Given the description of an element on the screen output the (x, y) to click on. 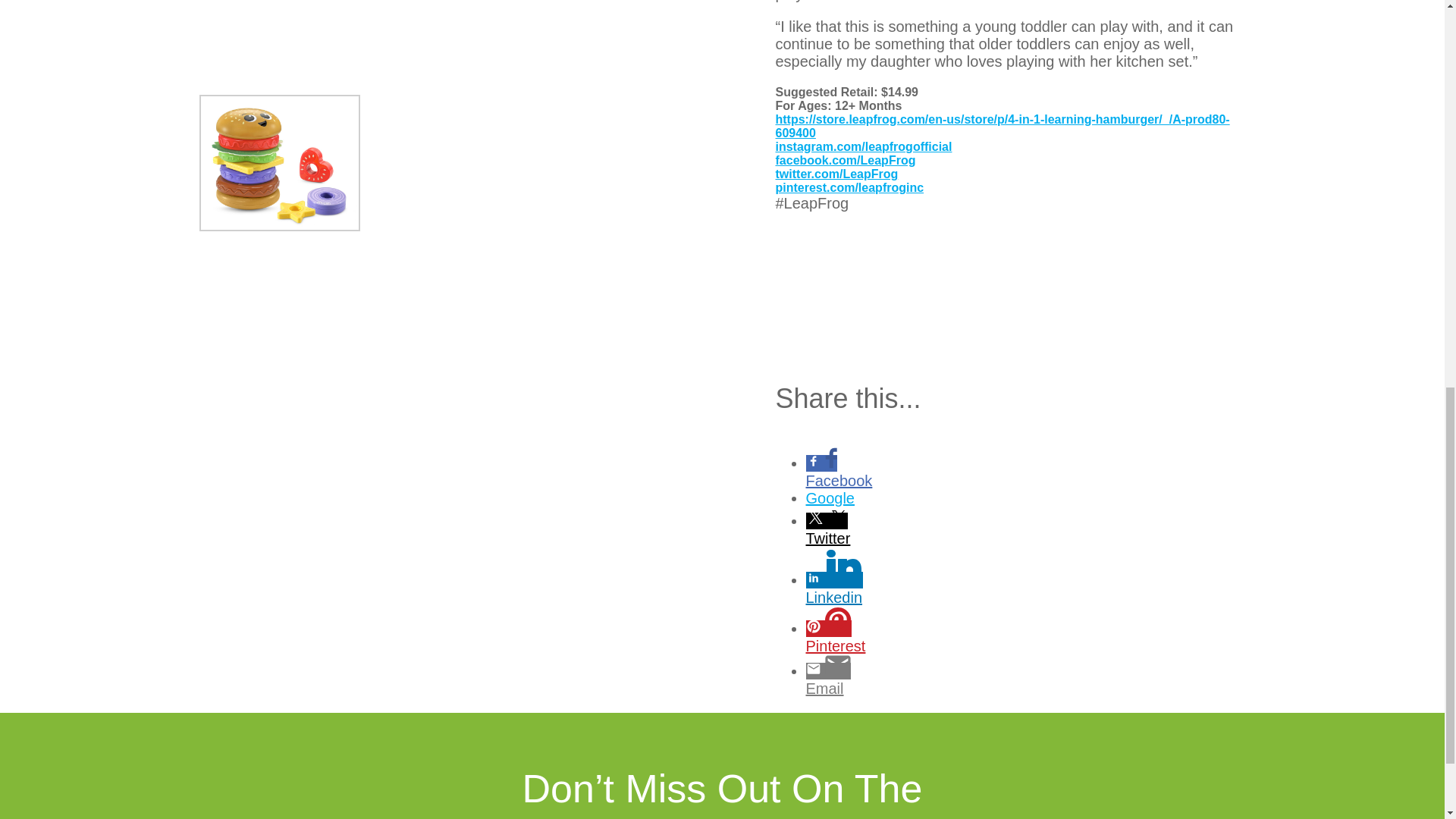
Twitter (862, 538)
Facebook (862, 480)
Google (862, 497)
Email (862, 688)
Pinterest (862, 646)
Linkedin (862, 597)
